Given the description of an element on the screen output the (x, y) to click on. 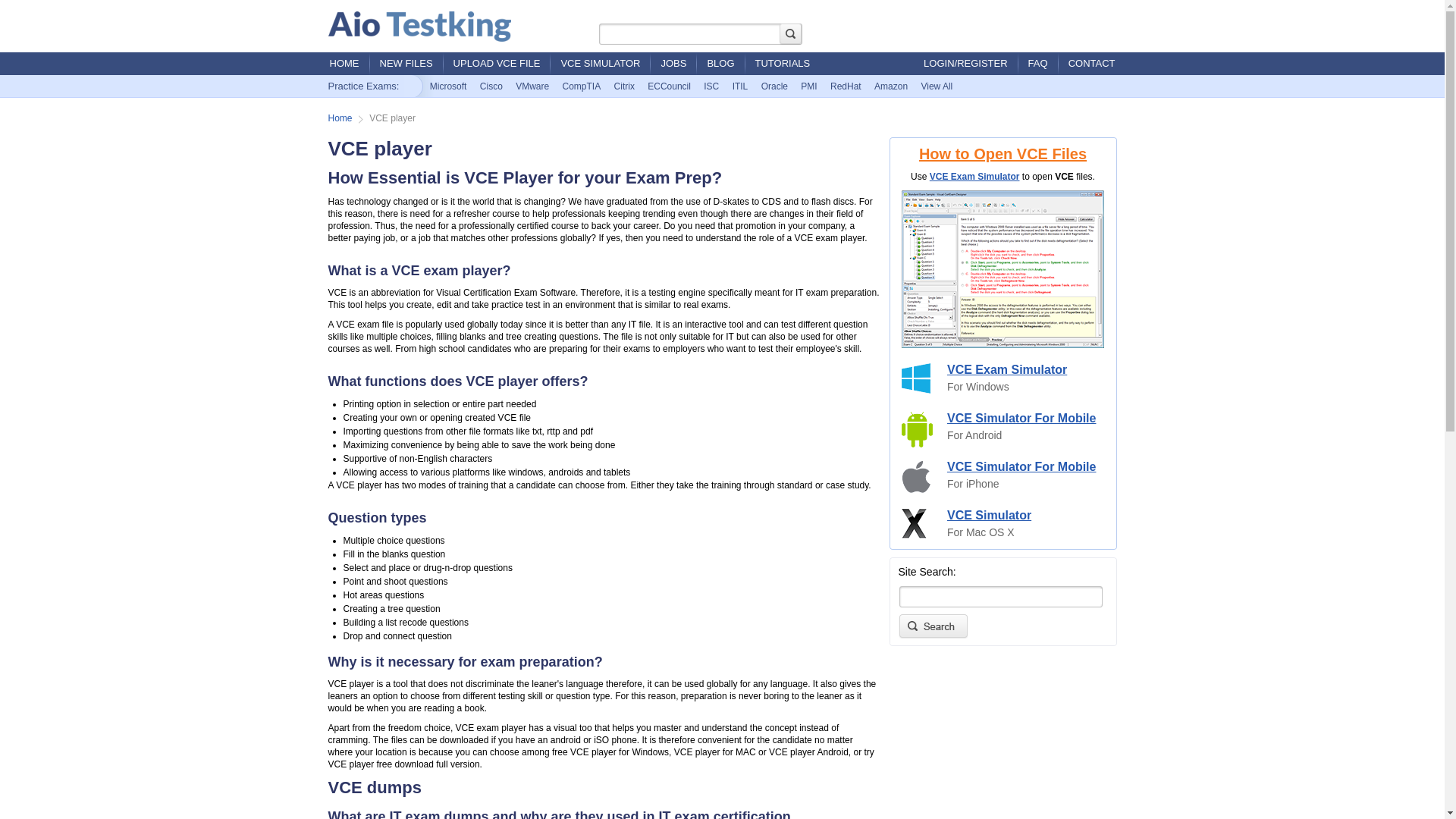
CompTIA (582, 86)
View All (936, 86)
FAQ (1039, 63)
Citrix (624, 86)
Open VCE files on Android device (917, 429)
CONTACT (1091, 63)
Home (339, 118)
VMware (532, 86)
VCE Simulator For Mobile (1021, 466)
UPLOAD VCE FILE (497, 63)
HOME (344, 63)
ISC (710, 86)
NEW FILES (406, 63)
VCE Simulator For Mobile (1021, 418)
ITIL (740, 86)
